Given the description of an element on the screen output the (x, y) to click on. 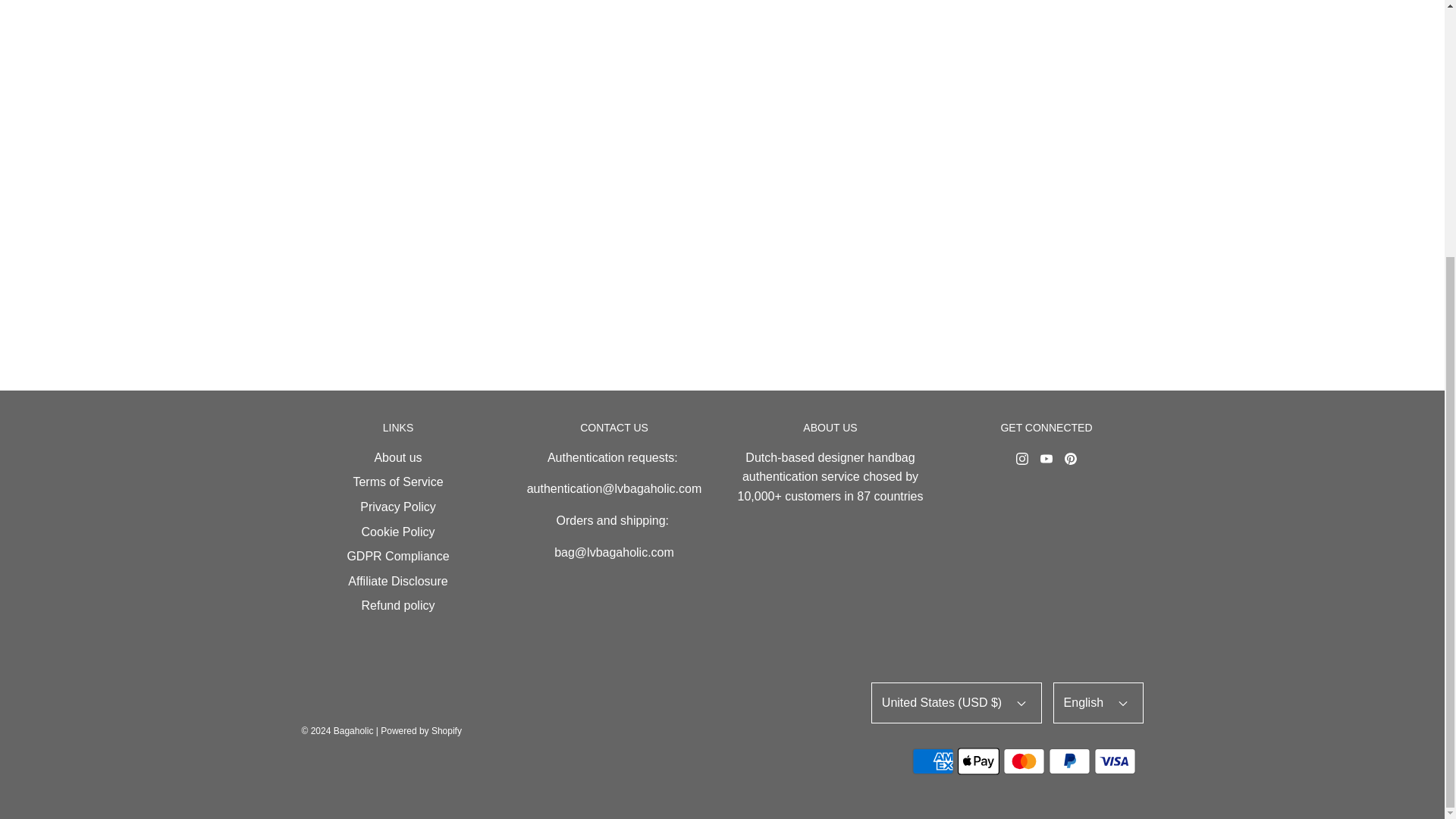
YouTube icon (1046, 458)
Instagram icon (1021, 458)
PayPal (1069, 761)
Pinterest icon (1070, 458)
Visa (1114, 761)
Apple Pay (978, 761)
Mastercard (1024, 761)
American Express (932, 761)
